Given the description of an element on the screen output the (x, y) to click on. 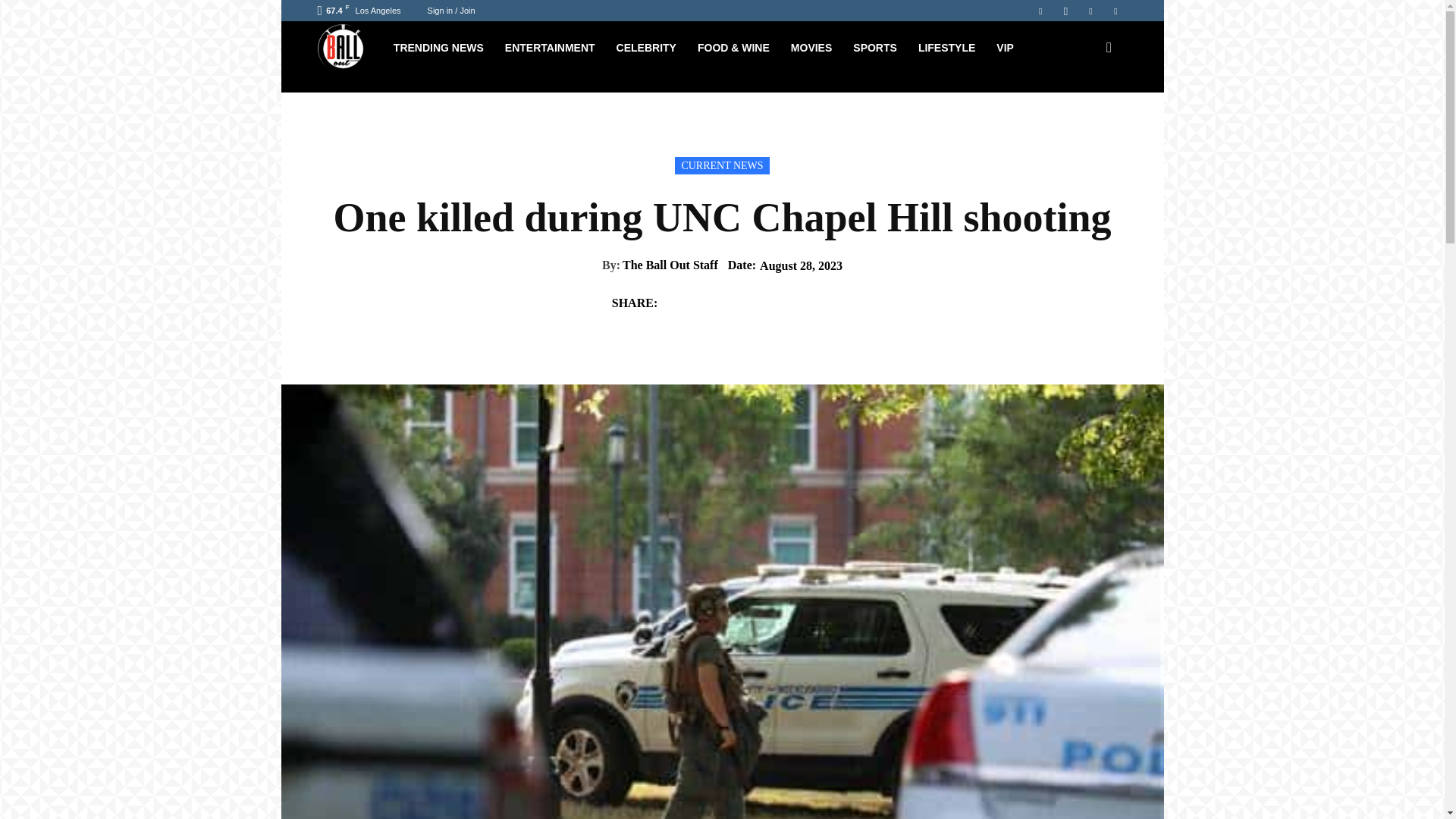
Facebook (1040, 10)
Instagram (1065, 10)
Youtube (1114, 10)
The Ball Out (349, 48)
Twitter (1090, 10)
